Given the description of an element on the screen output the (x, y) to click on. 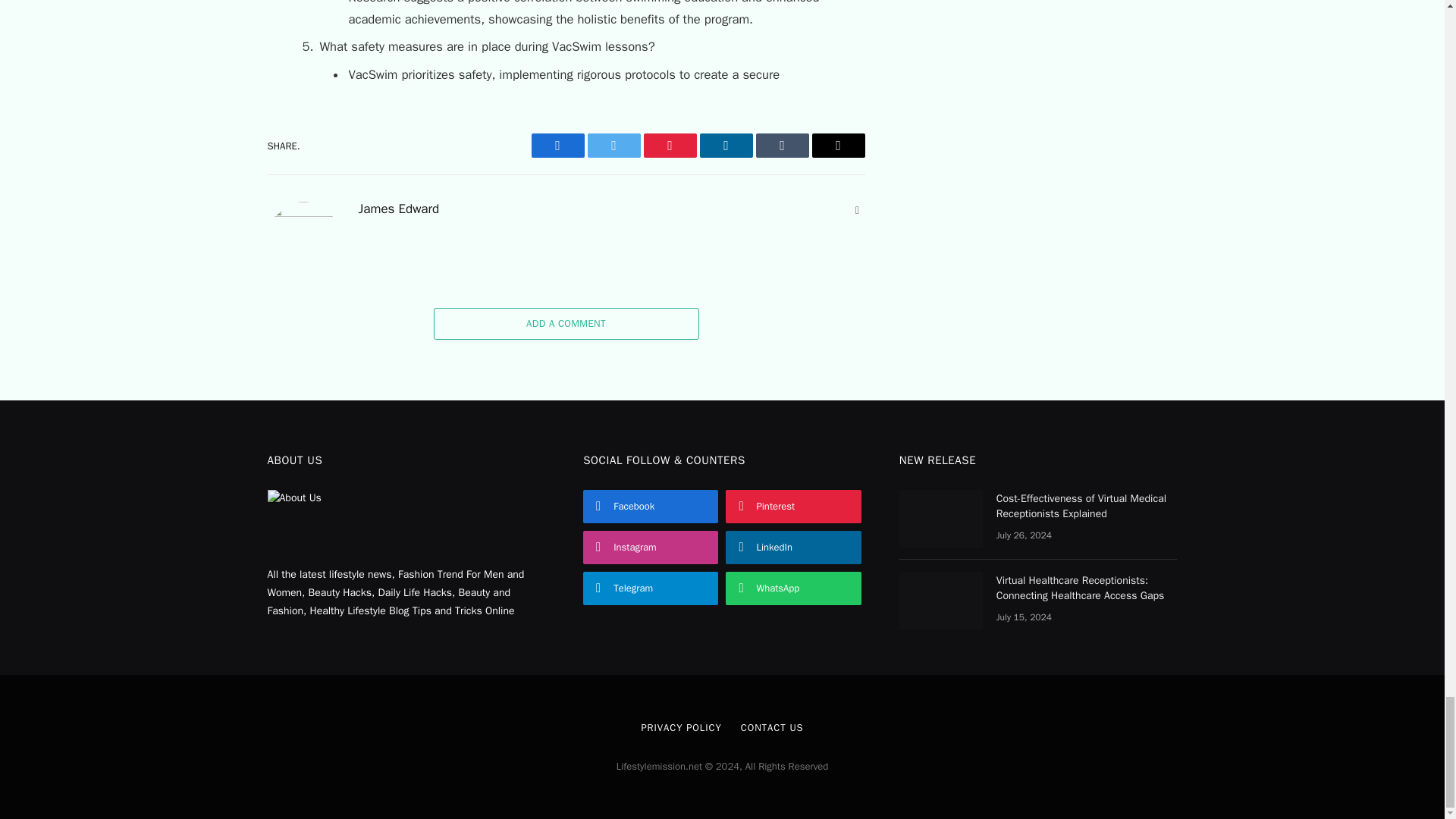
Pinterest (669, 145)
Twitter (613, 145)
Facebook (557, 145)
